Given the description of an element on the screen output the (x, y) to click on. 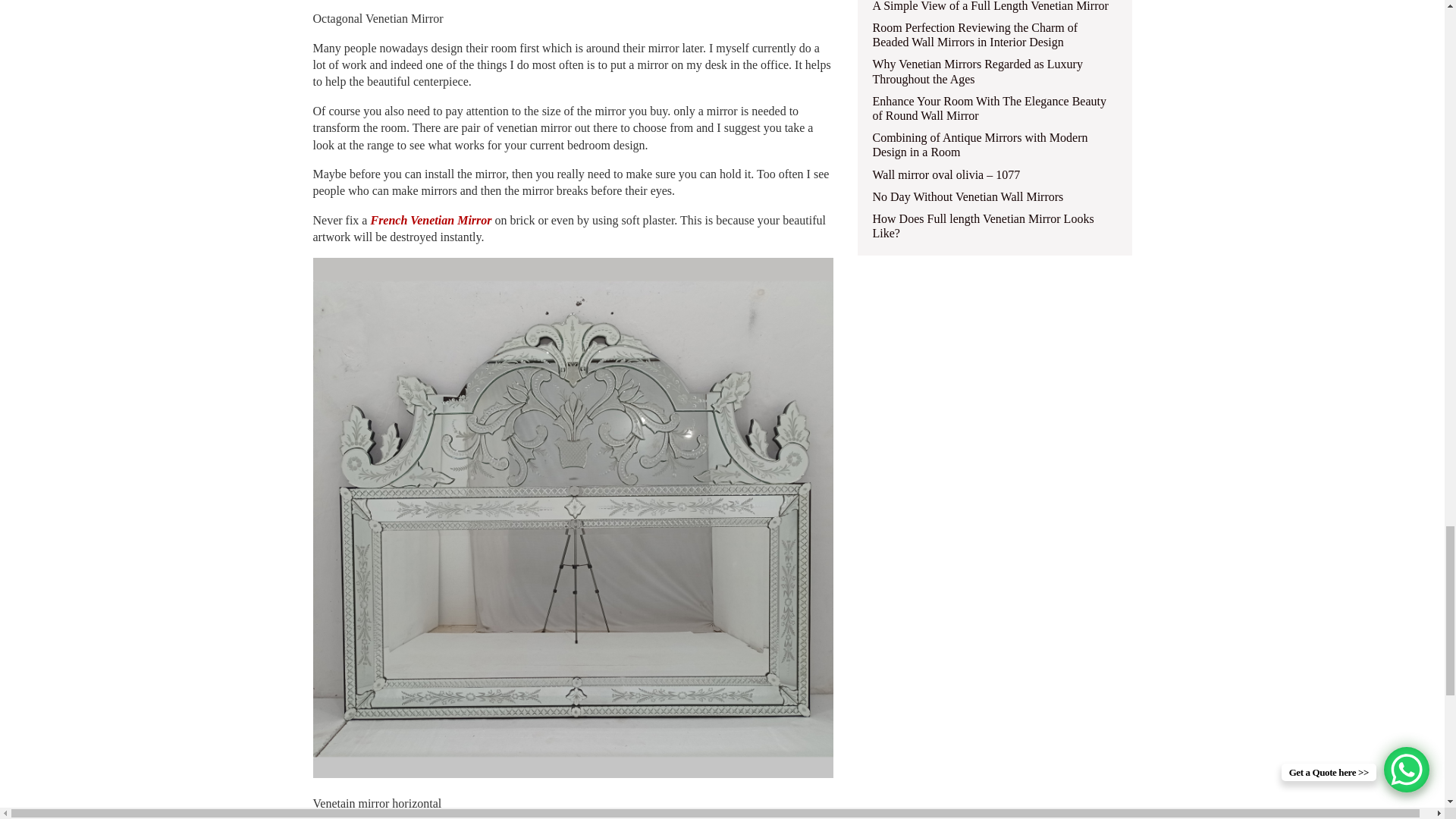
French Venetian Mirror (432, 219)
